Given the description of an element on the screen output the (x, y) to click on. 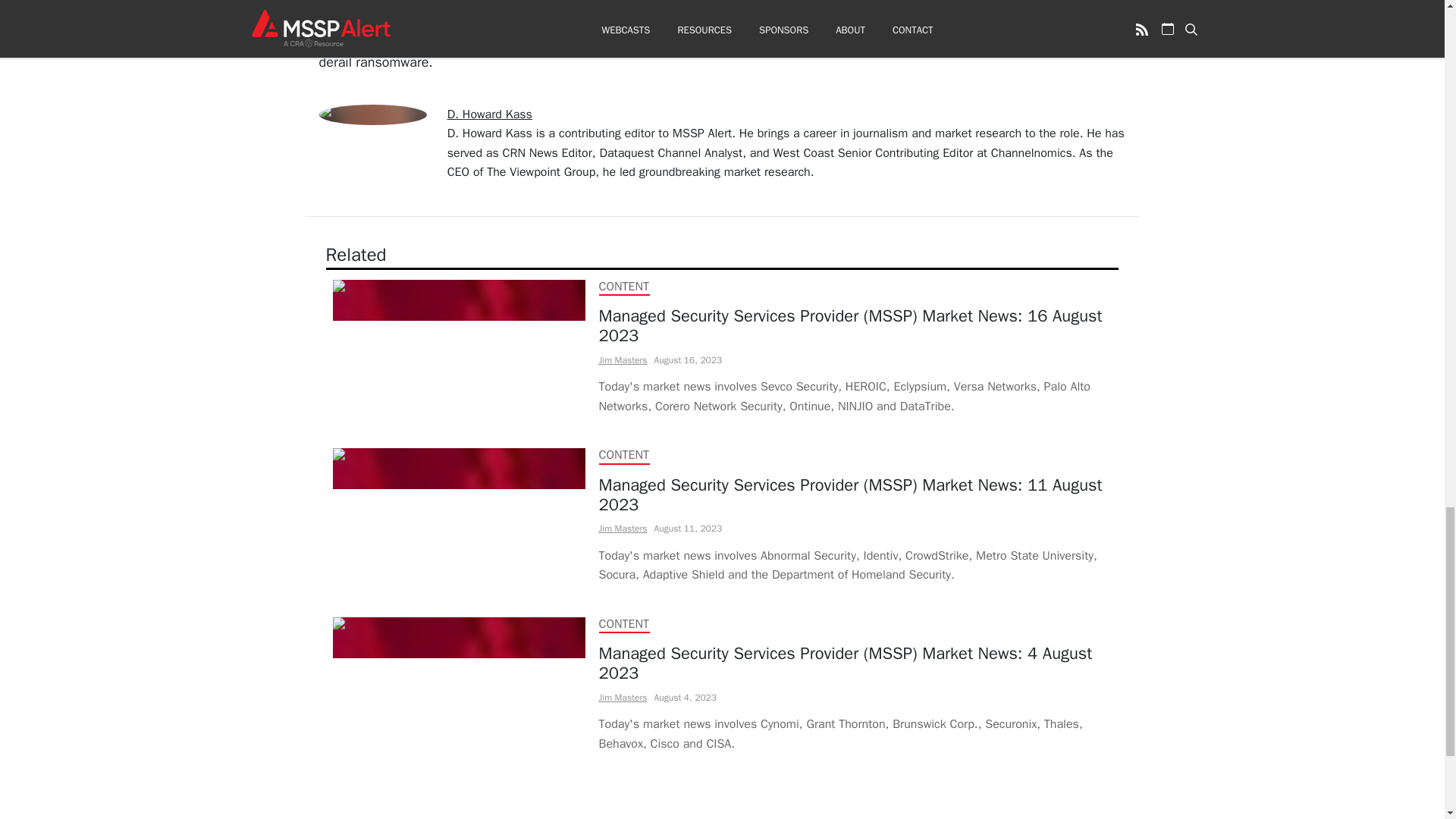
D. Howard Kass (489, 114)
CONTENT (623, 286)
Jim Masters (622, 359)
CONTENT (623, 623)
Jim Masters (622, 528)
CONTENT (623, 454)
Jim Masters (622, 697)
